Given the description of an element on the screen output the (x, y) to click on. 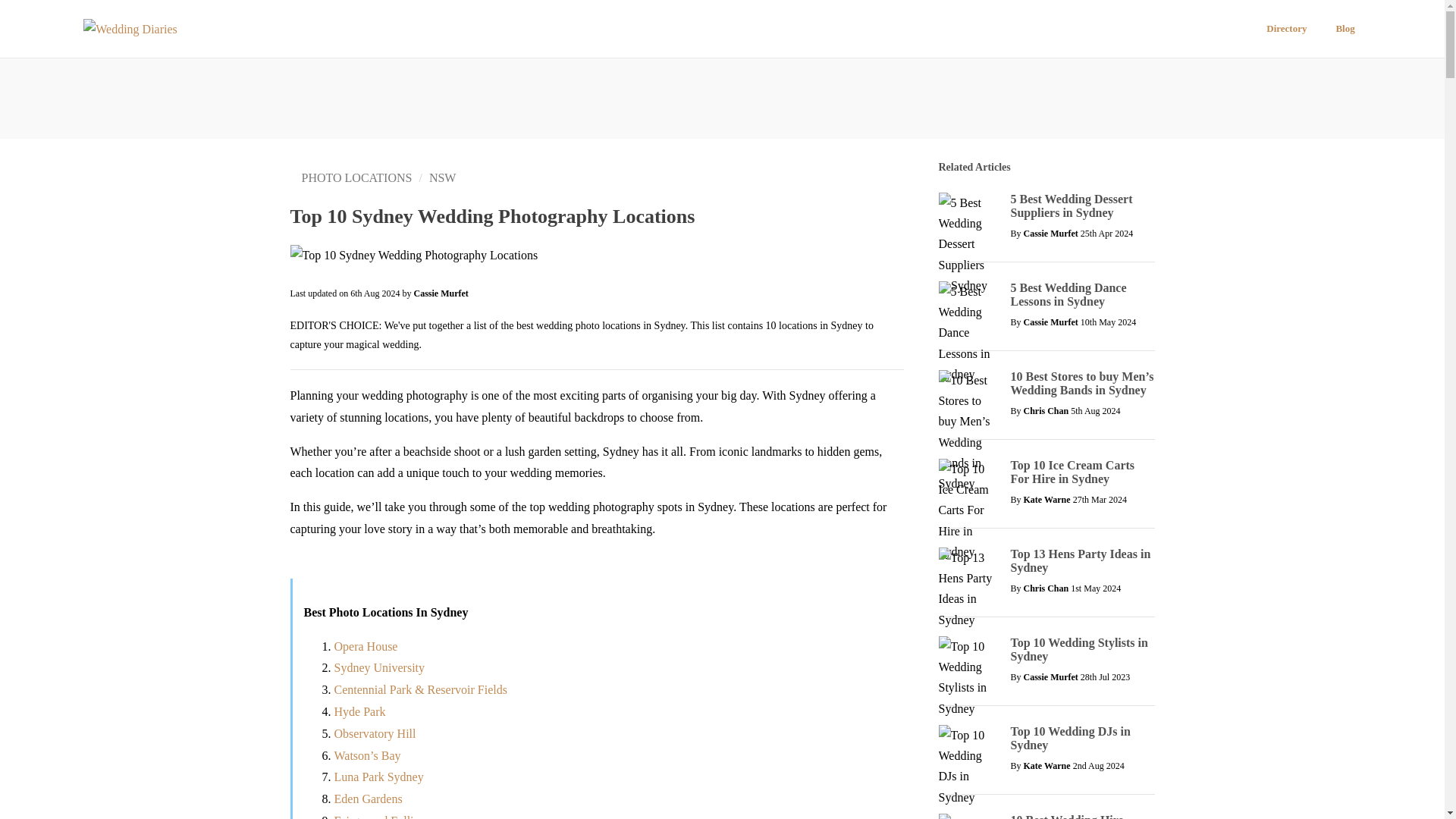
Wedding Diaries (129, 28)
Top 10 Sydney Wedding Photography Locations (413, 254)
Wedding Diaries (129, 29)
